Given the description of an element on the screen output the (x, y) to click on. 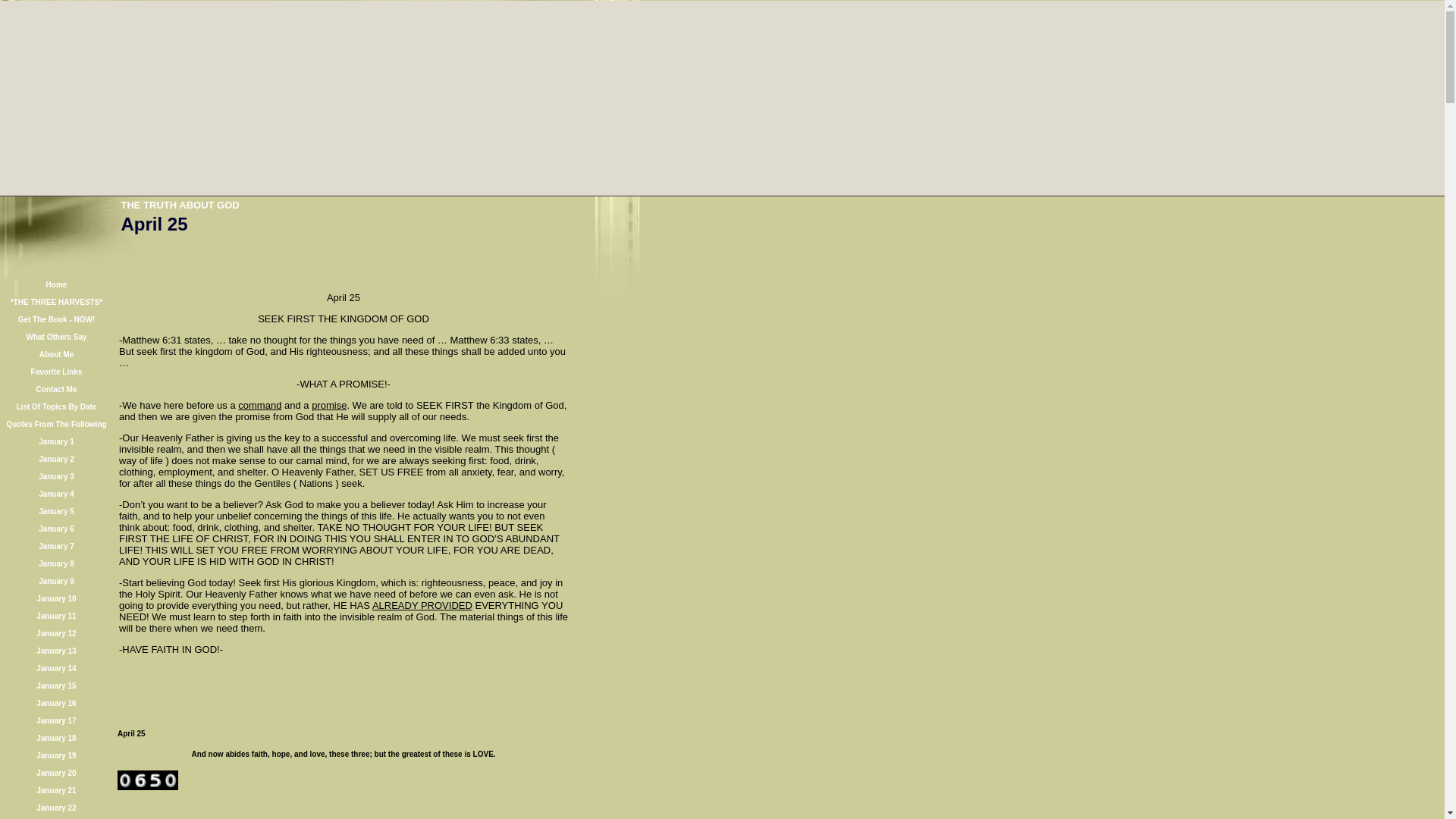
January 16 (55, 701)
January 1 (56, 440)
January 10 (55, 596)
January 13 (55, 649)
About Me (56, 352)
January 12 (55, 631)
January 14 (55, 666)
Favorite Links (56, 369)
January 2 (56, 457)
Home (56, 282)
January 9 (56, 579)
January 22 (55, 806)
Get The Book - NOW! (56, 318)
What Others Say (55, 335)
January 15 (55, 684)
